Given the description of an element on the screen output the (x, y) to click on. 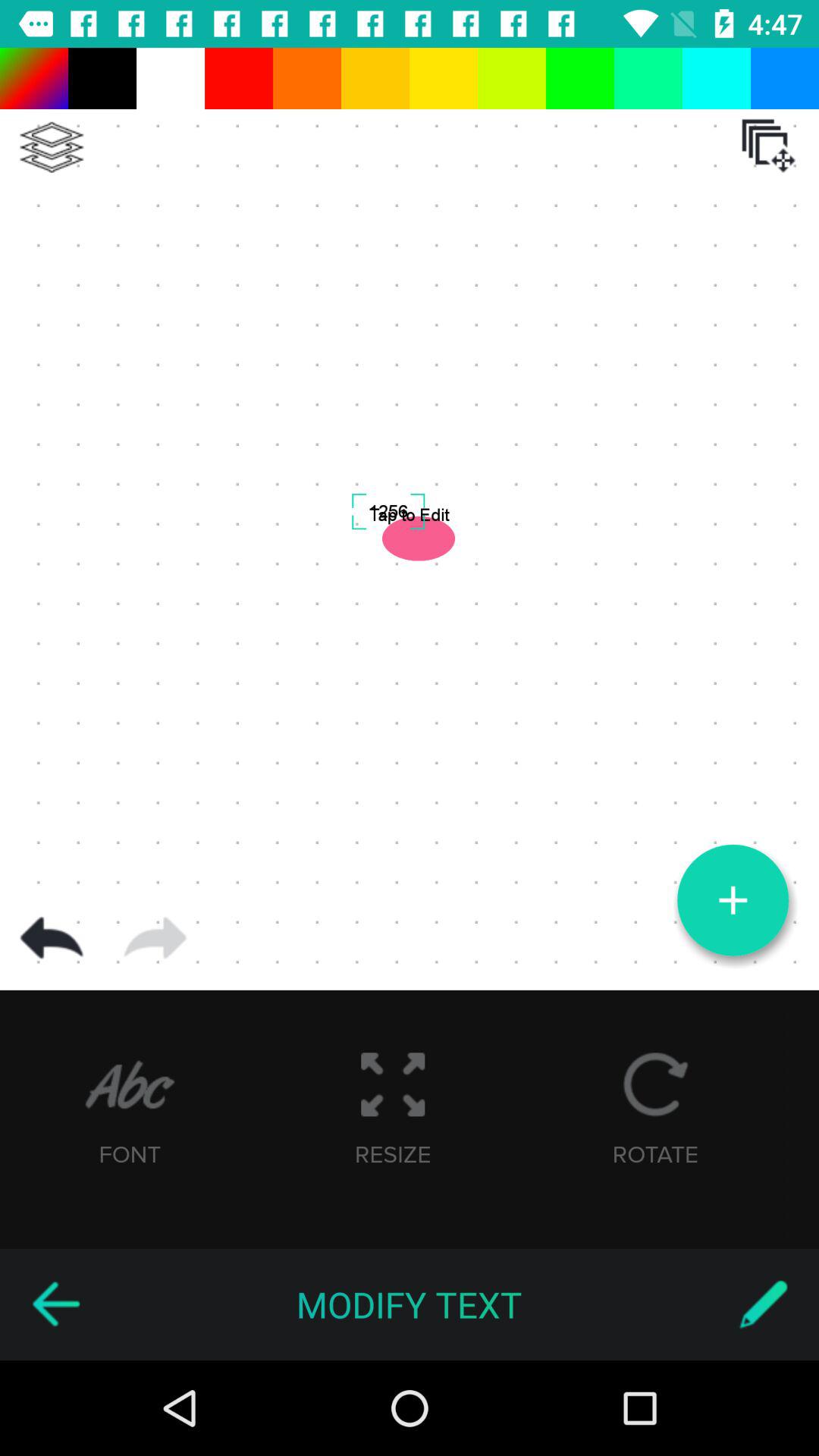
move button (768, 145)
